Given the description of an element on the screen output the (x, y) to click on. 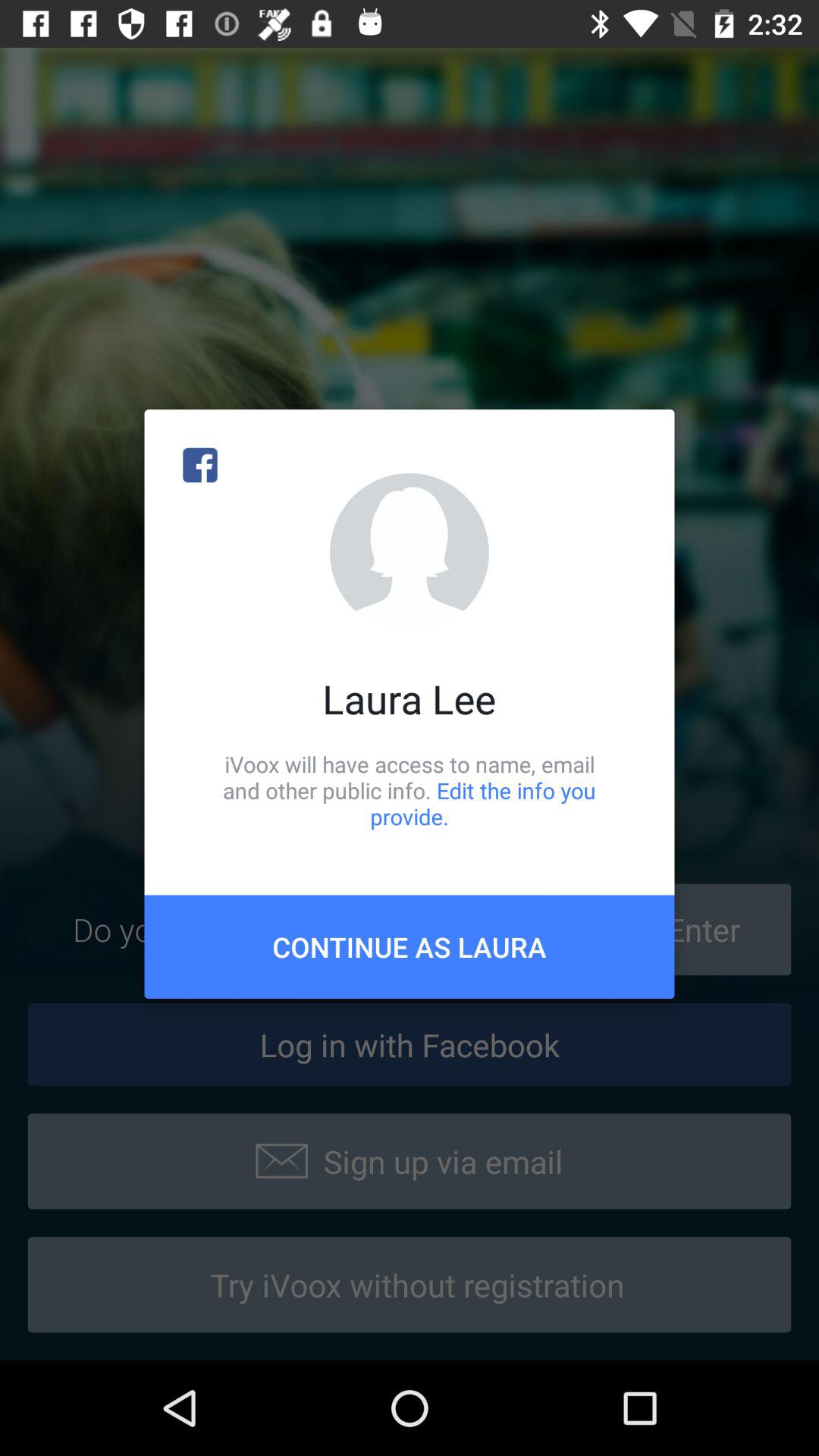
scroll until the continue as laura item (409, 946)
